Given the description of an element on the screen output the (x, y) to click on. 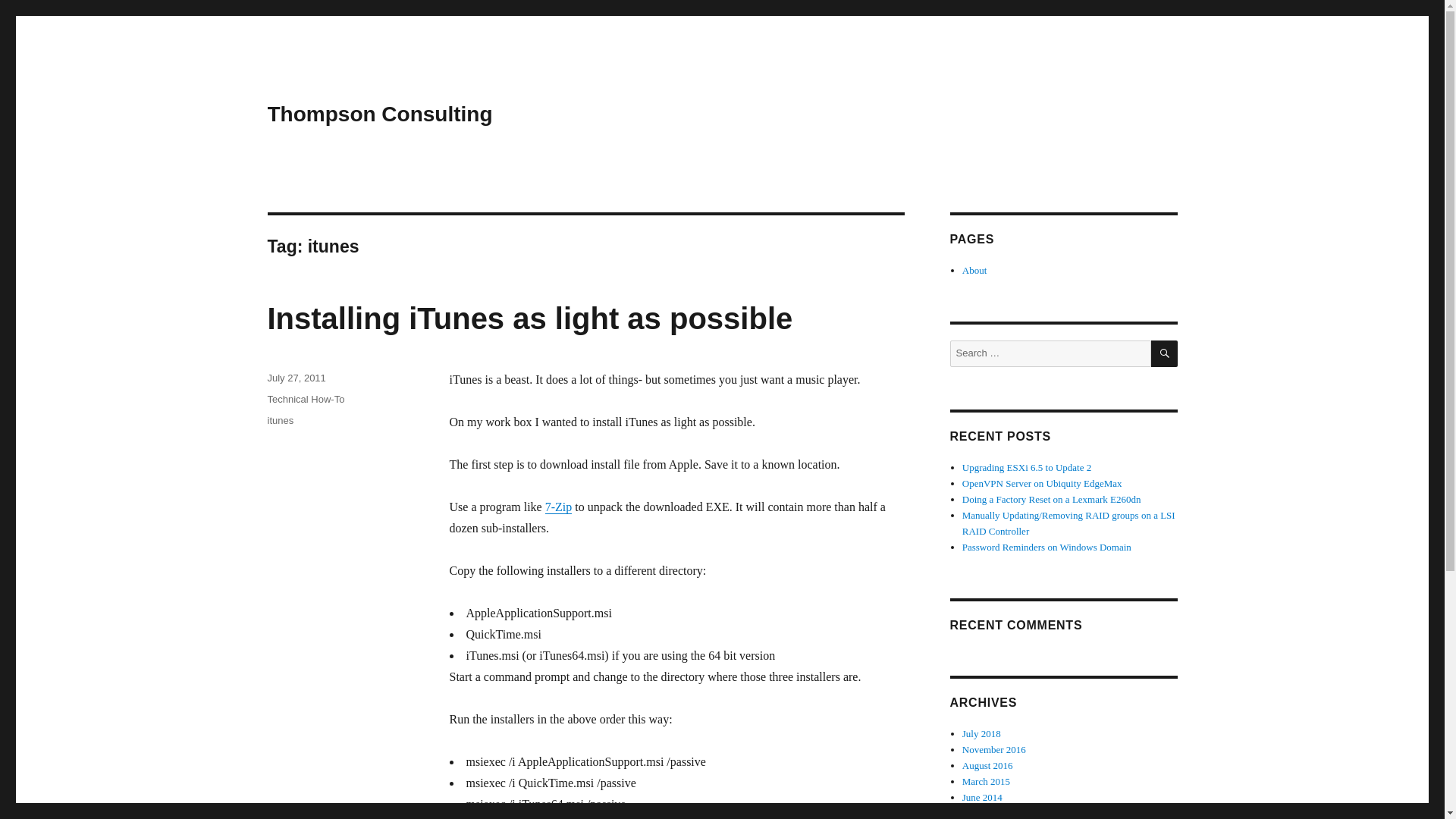
itunes (280, 419)
March 2015 (986, 781)
July 27, 2011 (295, 378)
About (974, 270)
June 2014 (982, 797)
August 2016 (987, 765)
SEARCH (1164, 353)
July 2018 (981, 733)
Thompson Consulting (379, 114)
February 2014 (991, 813)
